Given the description of an element on the screen output the (x, y) to click on. 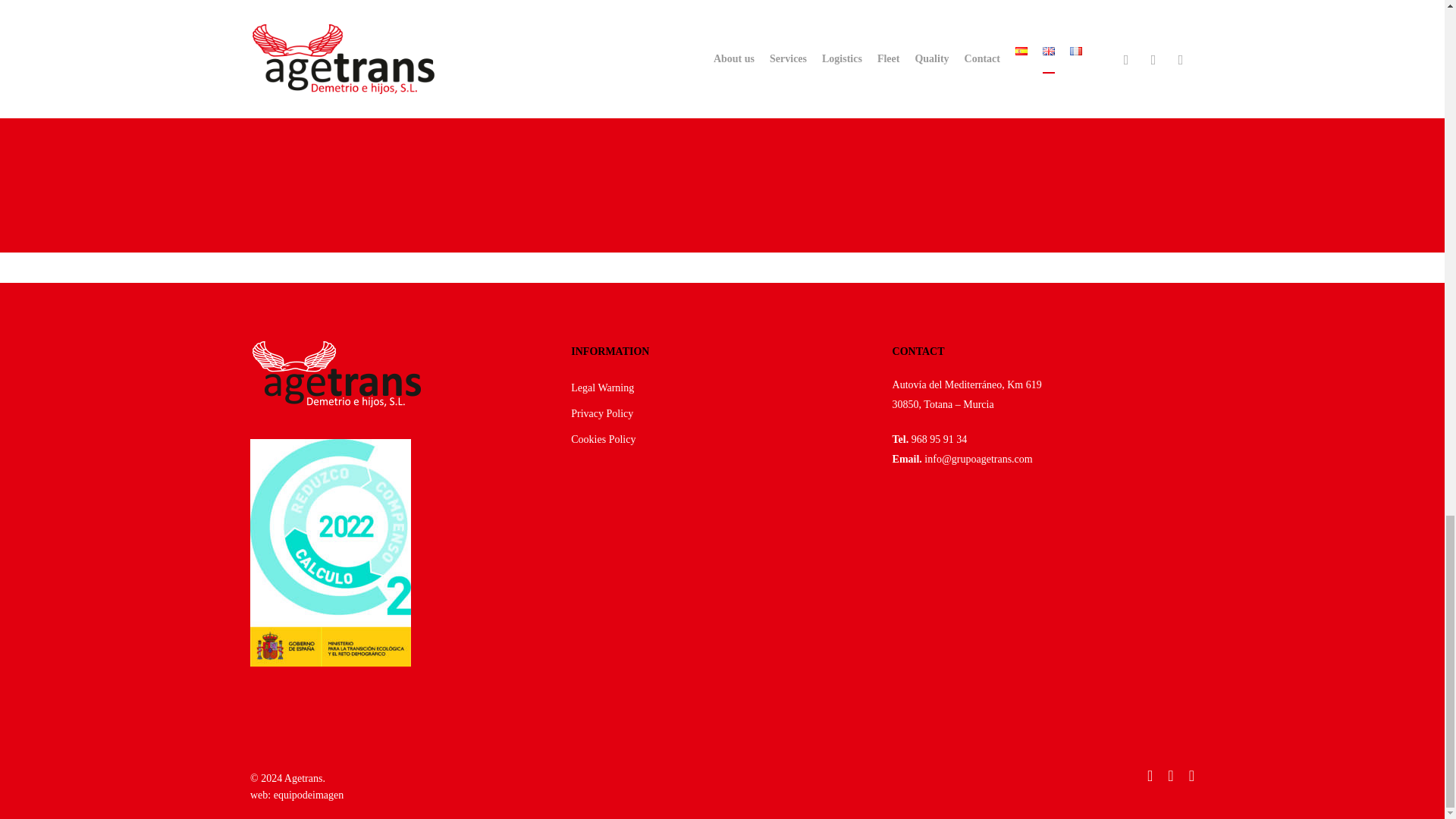
web: equipodeimagen (296, 794)
968 95 91 34 (939, 439)
Cookies Policy (721, 439)
Privacy Policy (721, 414)
Legal Warning (721, 388)
